Given the description of an element on the screen output the (x, y) to click on. 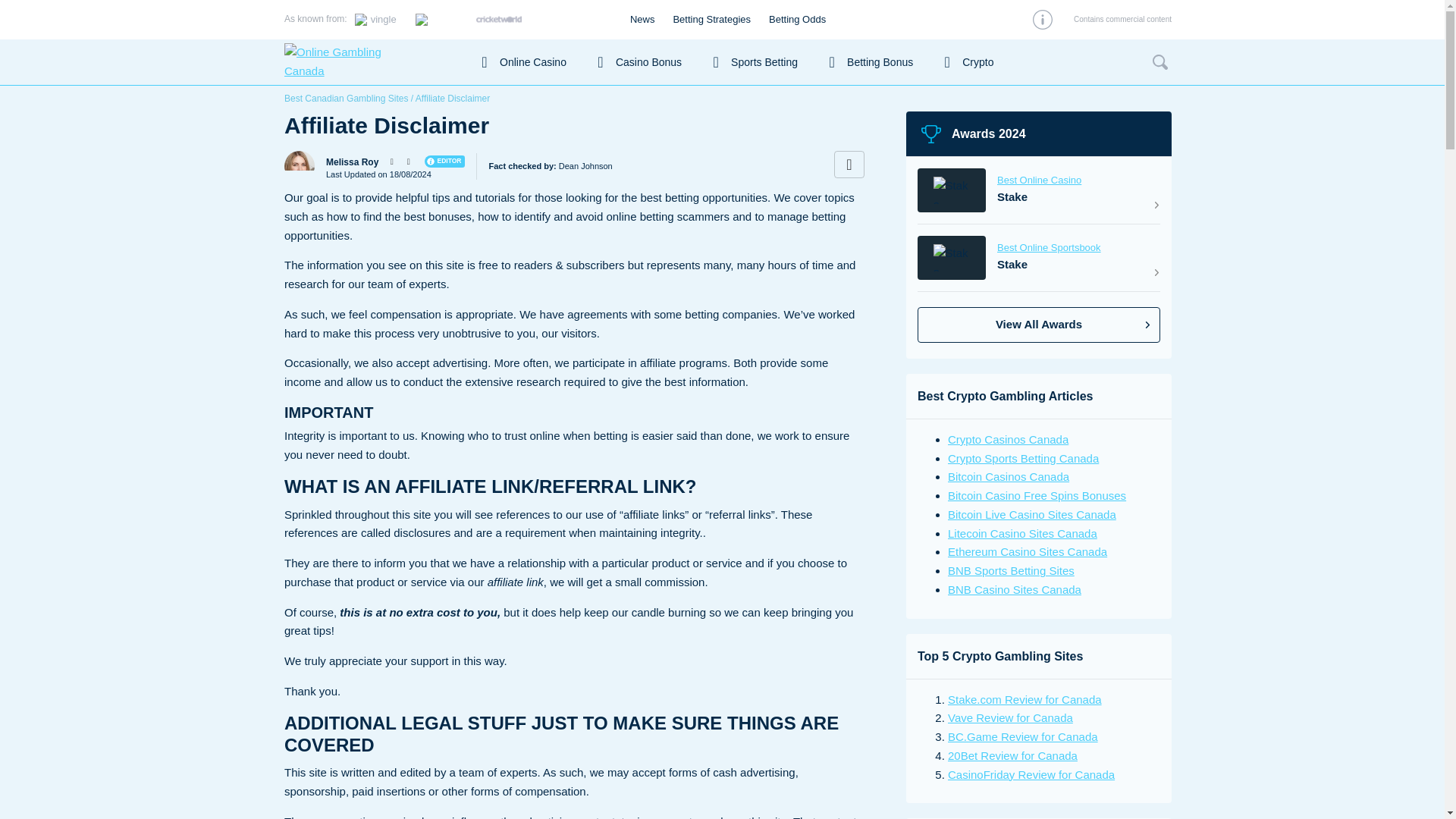
Online Gambling Canada (372, 62)
Betting Strategies (711, 19)
News (642, 19)
Betting Odds (796, 19)
